Given the description of an element on the screen output the (x, y) to click on. 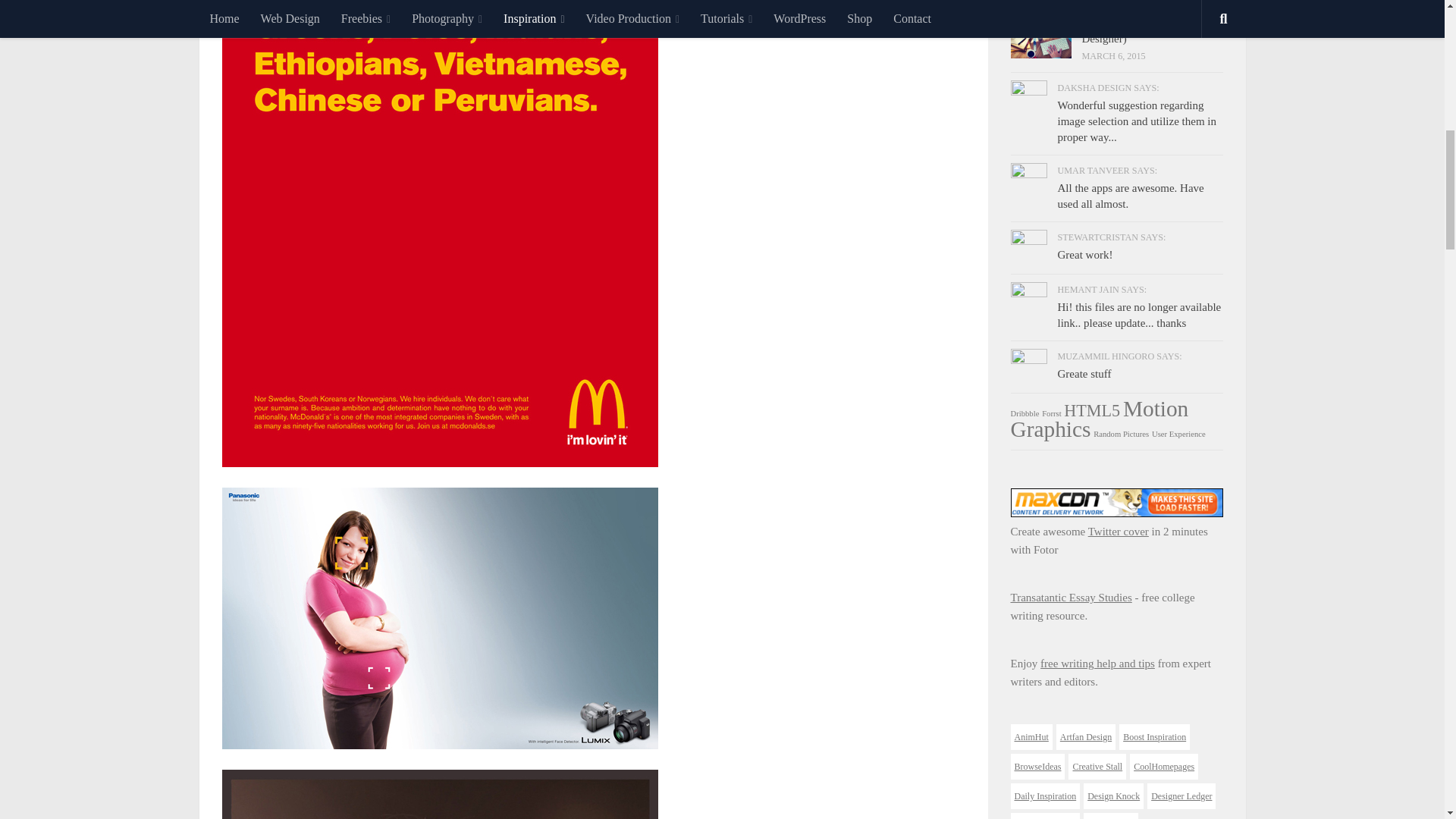
Creative and Funny Controversial Ads (439, 794)
Creative and Funny Controversial Ads (439, 618)
